Given the description of an element on the screen output the (x, y) to click on. 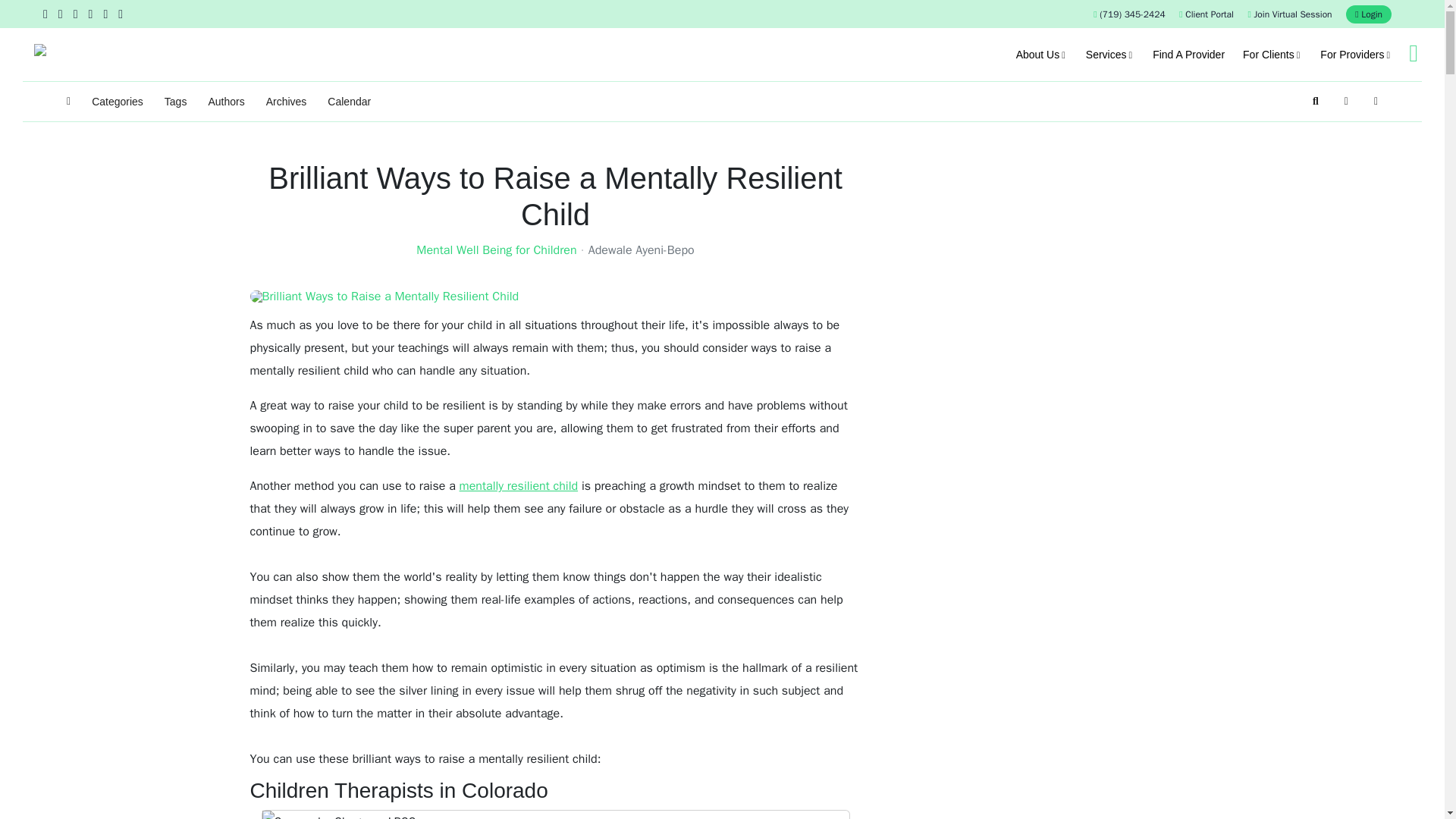
Tags (175, 101)
Categories (116, 101)
Calendar (348, 101)
Client Portal (1206, 14)
For Clients (1272, 54)
About Us (1042, 54)
Join Virtual Session (1289, 14)
Brilliant Ways to Raise a Mentally Resilient Child (555, 296)
Menu (1412, 52)
Authors (225, 101)
Login (1368, 13)
Services (1109, 54)
Find A Provider (1187, 54)
Archives (286, 101)
